Given the description of an element on the screen output the (x, y) to click on. 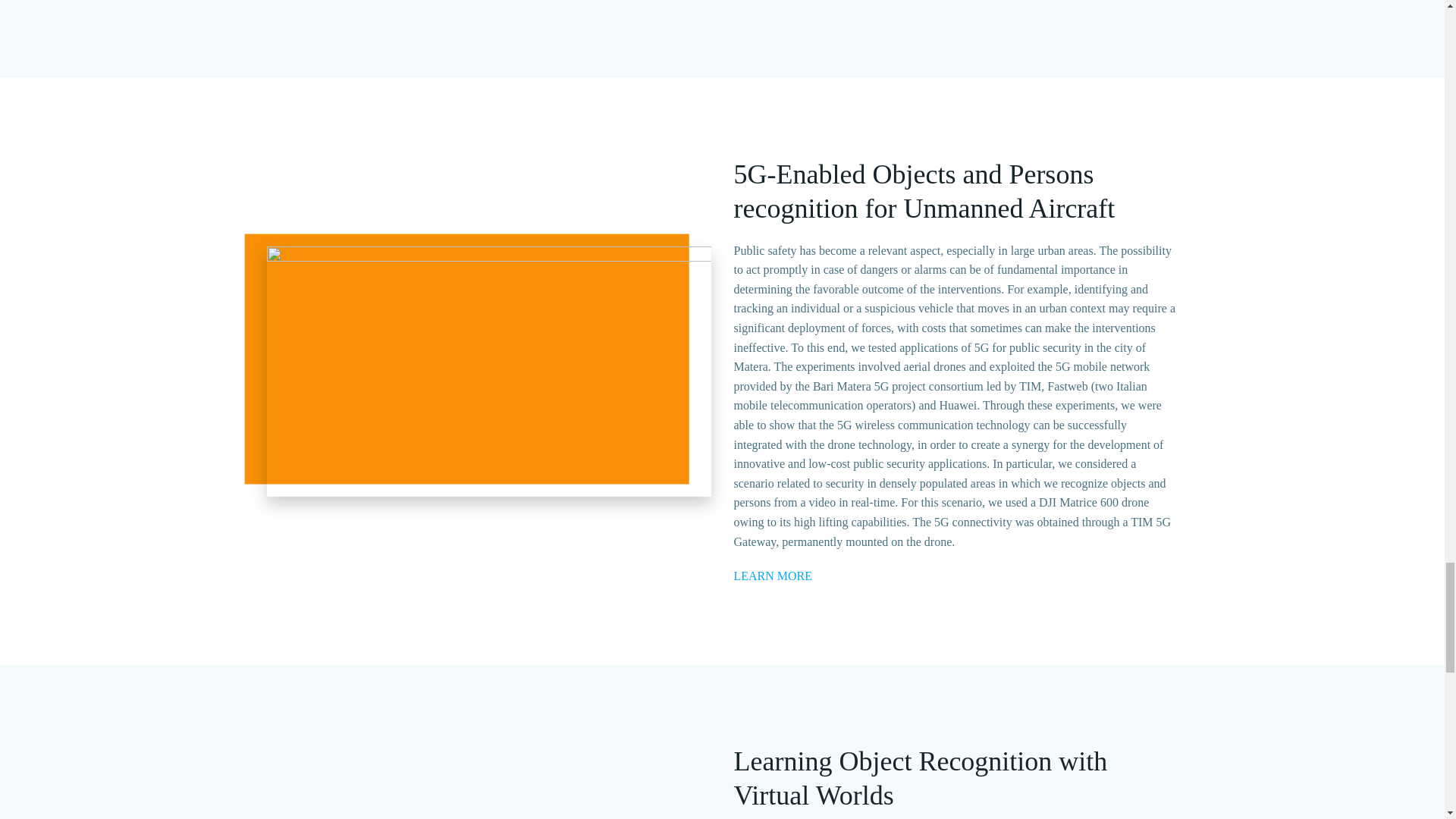
LEARN MORE (772, 576)
